Given the description of an element on the screen output the (x, y) to click on. 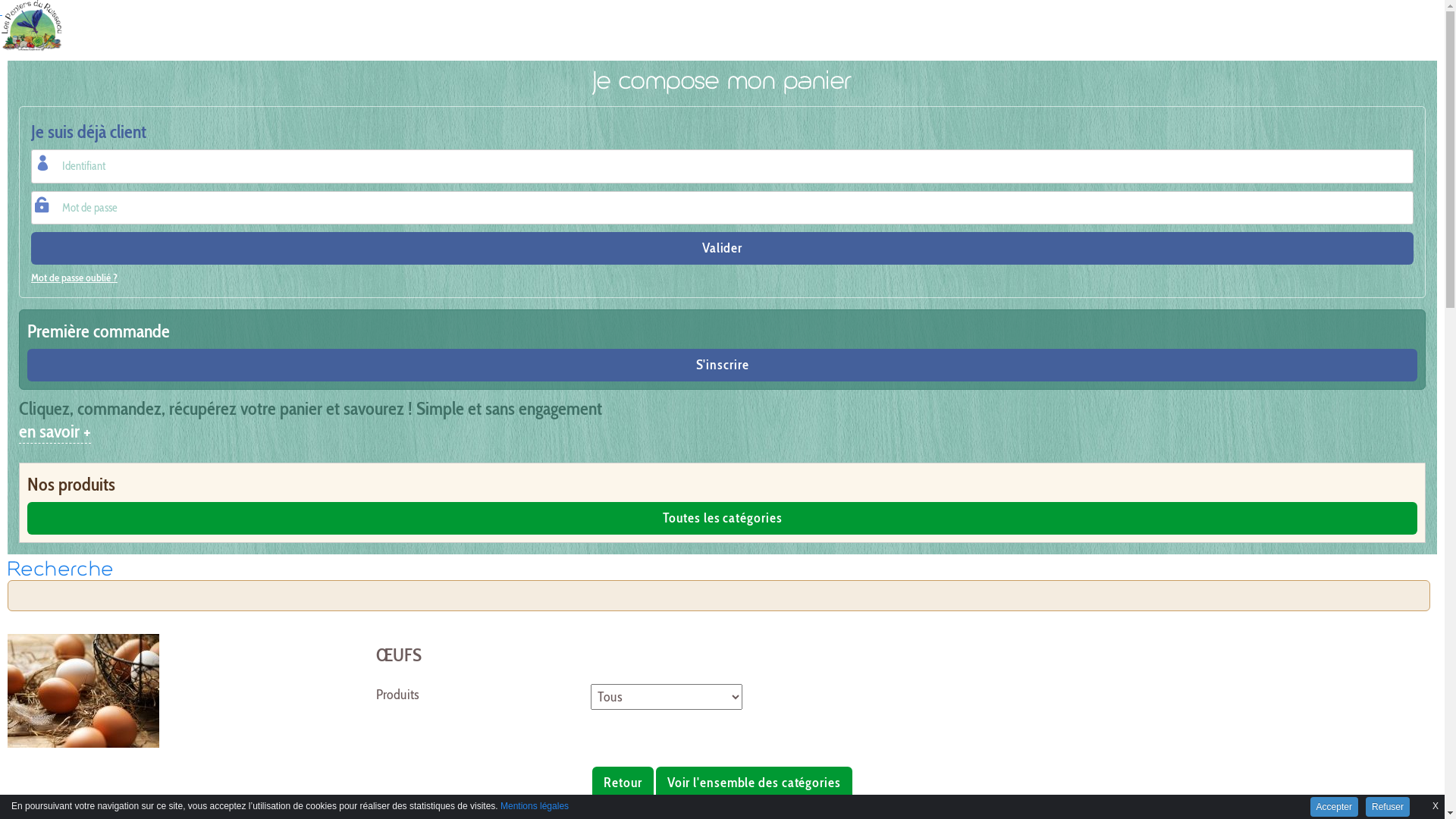
en savoir + Element type: text (54, 431)
Accepter Element type: text (1334, 806)
S'inscrire Element type: text (722, 364)
Valider Element type: text (722, 248)
Refuser Element type: text (1387, 806)
  Element type: text (180, 26)
X Element type: text (1435, 802)
Retour Element type: text (622, 782)
